Given the description of an element on the screen output the (x, y) to click on. 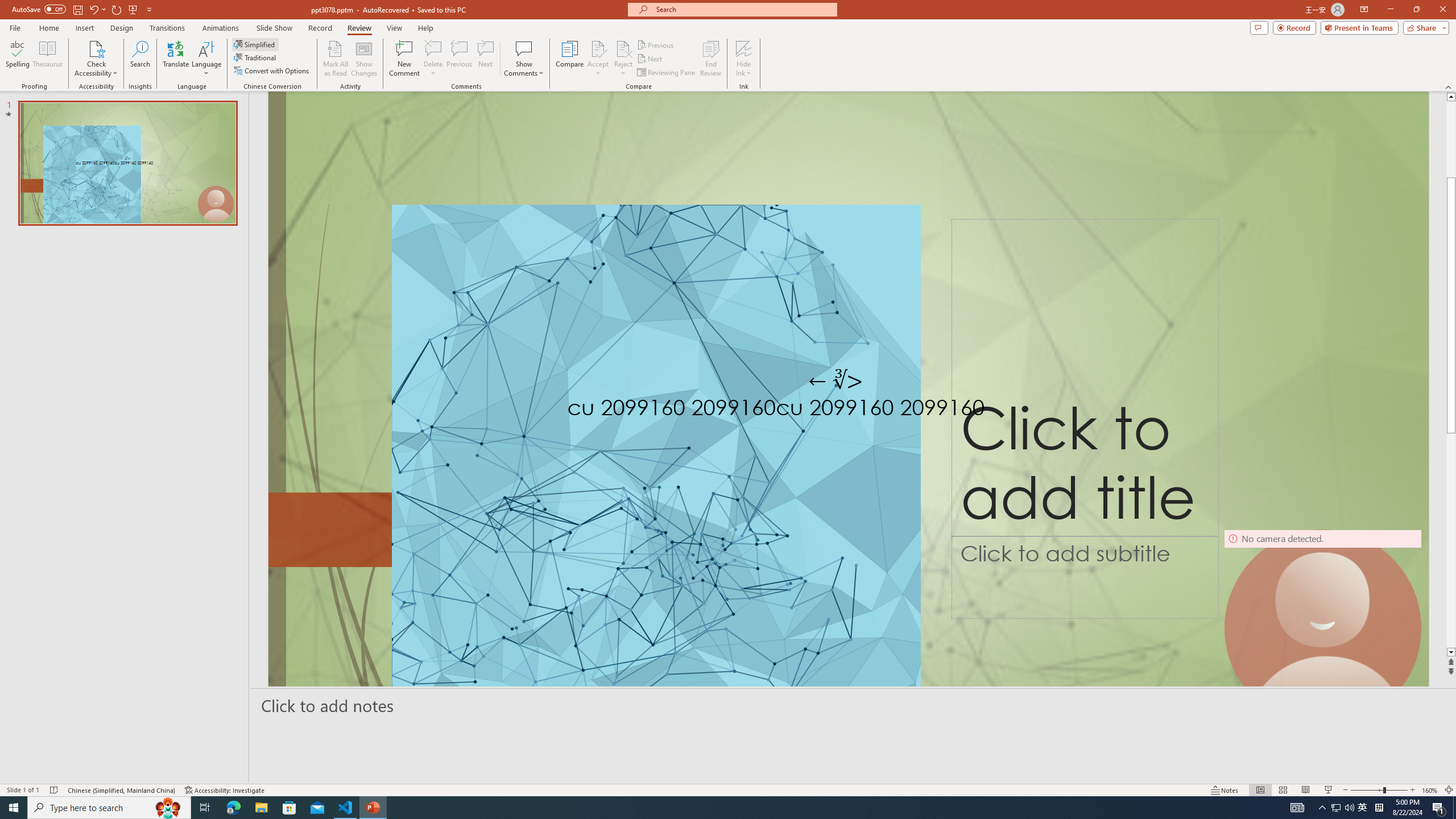
Traditional (255, 56)
End Review (710, 58)
